Given the description of an element on the screen output the (x, y) to click on. 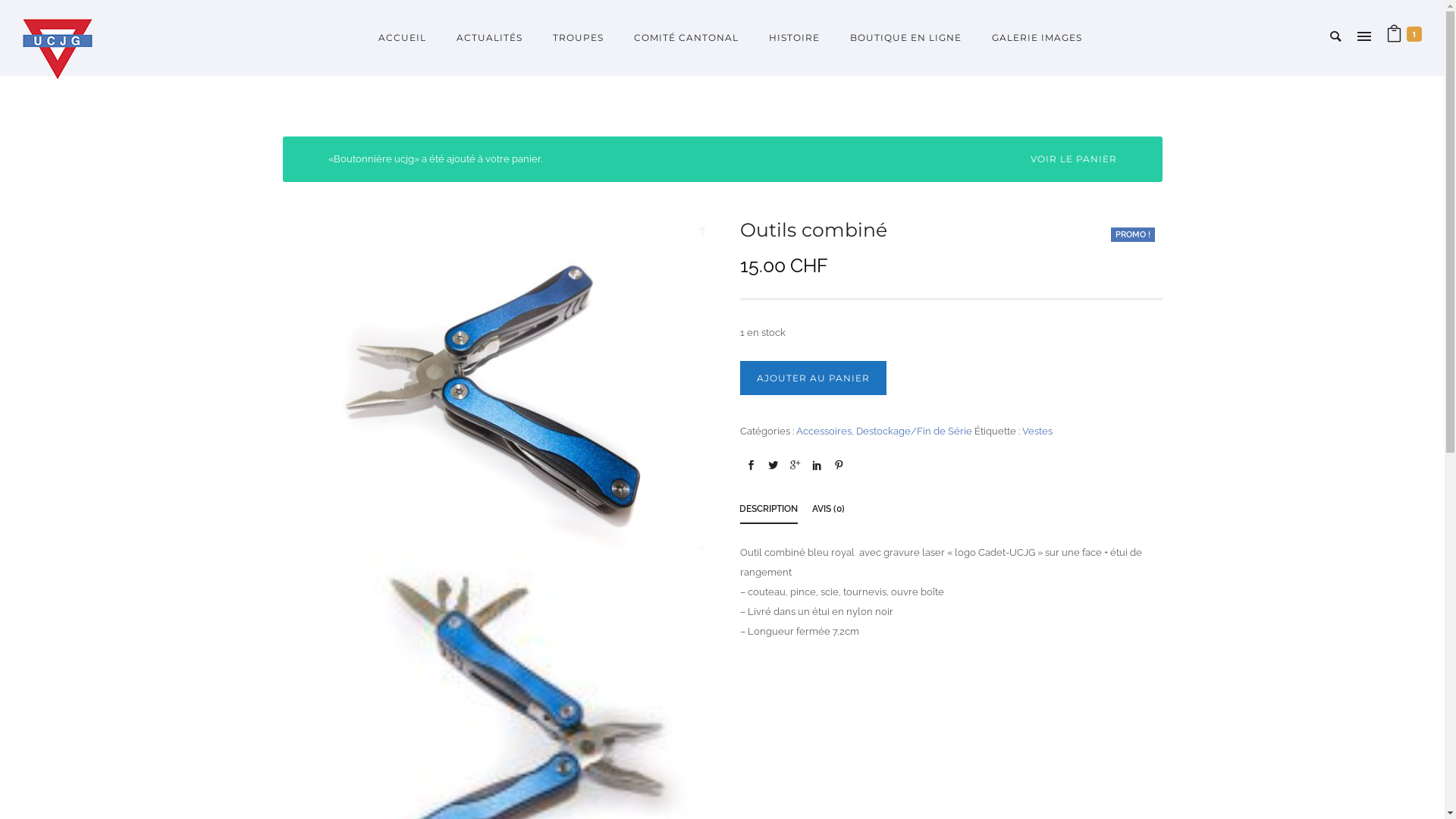
VOIR LE PANIER Element type: text (1072, 159)
1 Element type: text (1403, 37)
AJOUTER AU PANIER Element type: text (813, 377)
Vestes Element type: text (1037, 430)
TROUPES Element type: text (577, 37)
HISTOIRE Element type: text (793, 37)
AVIS (0) Element type: text (828, 510)
Accessoires Element type: text (823, 430)
GALERIE IMAGES Element type: text (1029, 37)
ACCUEIL Element type: text (401, 37)
BOUTIQUE EN LIGNE Element type: text (904, 37)
Sidebar Menu Controller Element type: hover (1364, 37)
DESCRIPTION Element type: text (768, 511)
